Given the description of an element on the screen output the (x, y) to click on. 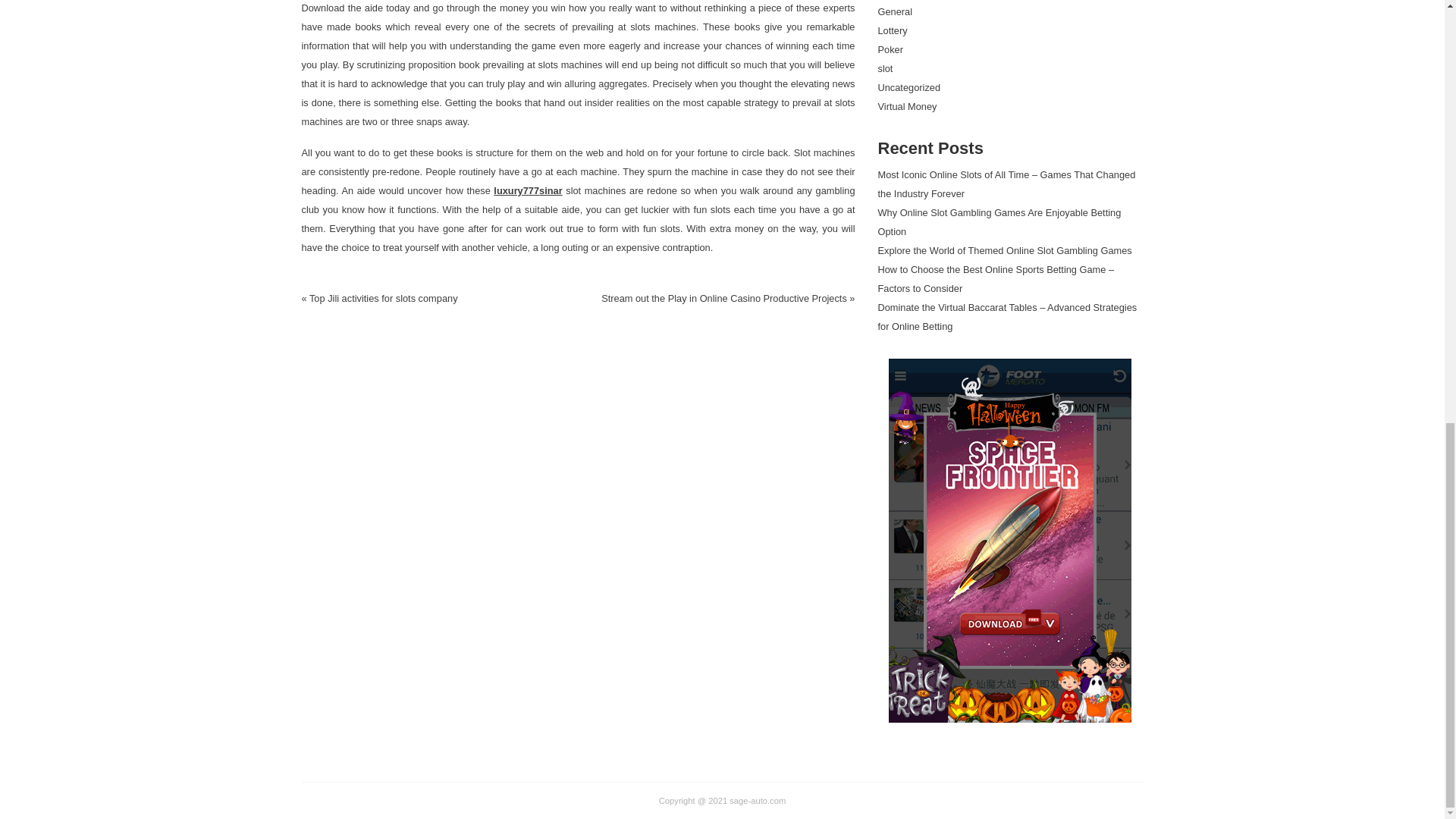
General (894, 11)
Why Online Slot Gambling Games Are Enjoyable Betting Option (999, 222)
Virtual Money (907, 106)
Stream out the Play in Online Casino Productive Projects (724, 297)
Poker (889, 49)
slot (885, 68)
Explore the World of Themed Online Slot Gambling Games (1004, 250)
Uncategorized (908, 87)
luxury777sinar (527, 190)
Lottery (892, 30)
